Given the description of an element on the screen output the (x, y) to click on. 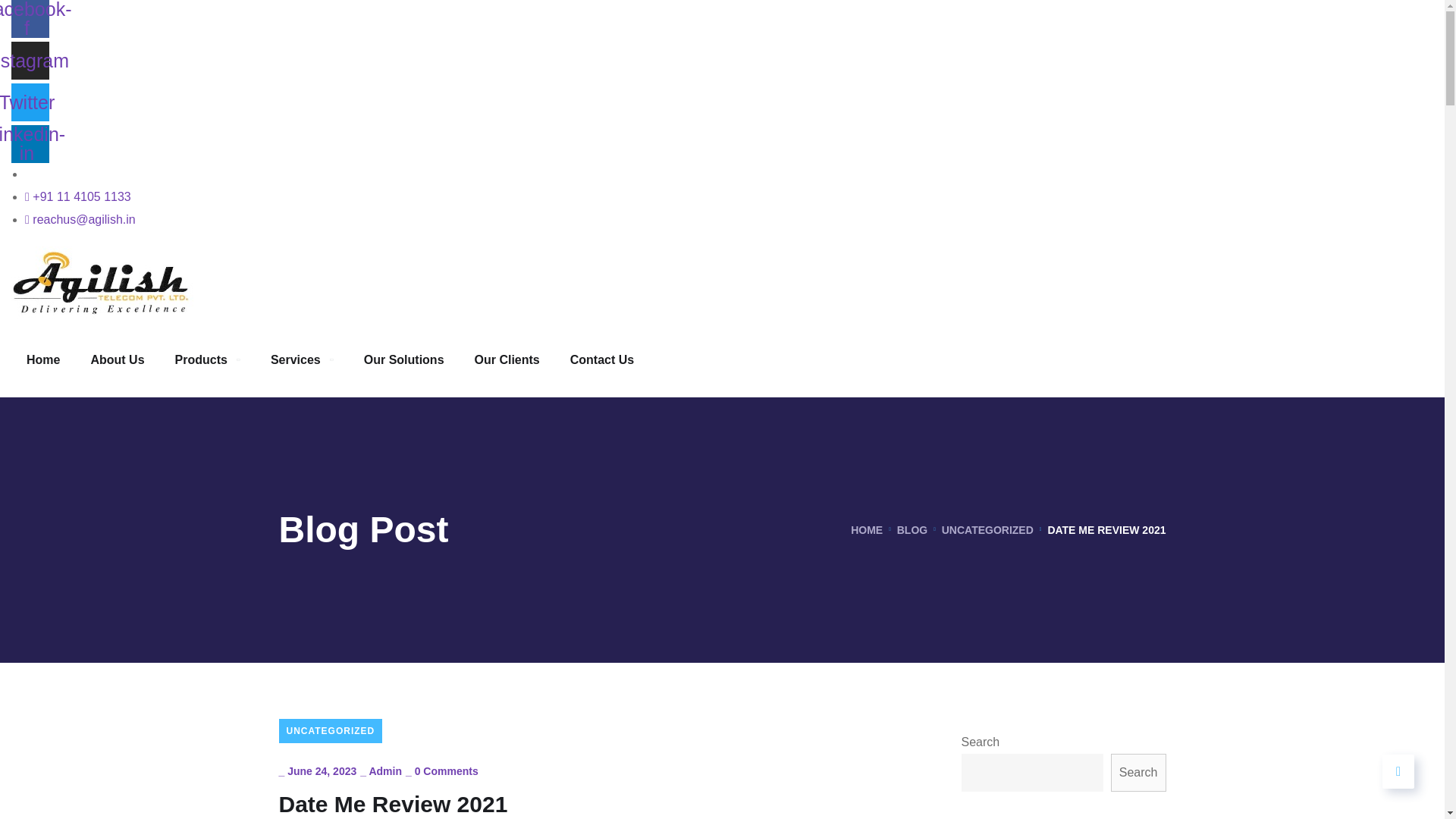
Twitter (30, 102)
Our Solutions (404, 359)
Linkedin-in (30, 143)
Facebook-f (30, 18)
Instagram (30, 60)
